Given the description of an element on the screen output the (x, y) to click on. 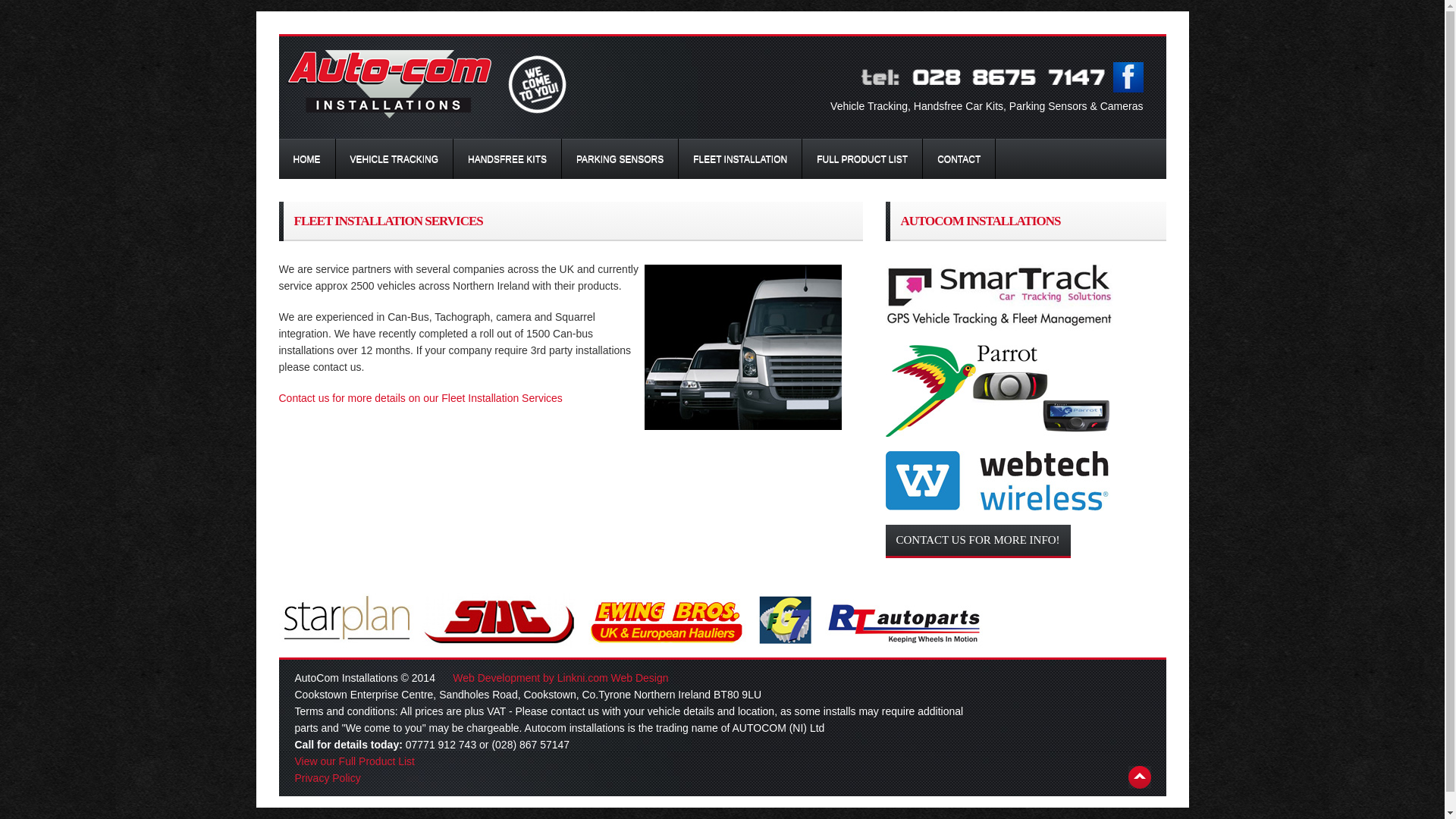
Privacy Policy (326, 777)
PARKING SENSORS (620, 158)
VEHICLE TRACKING (392, 158)
FLEET INSTALLATION (740, 158)
CONTACT US FOR MORE INFO! (977, 540)
HANDSFREE KITS (506, 158)
FULL PRODUCT LIST (861, 158)
HOME (306, 158)
CONTACT (958, 158)
